Given the description of an element on the screen output the (x, y) to click on. 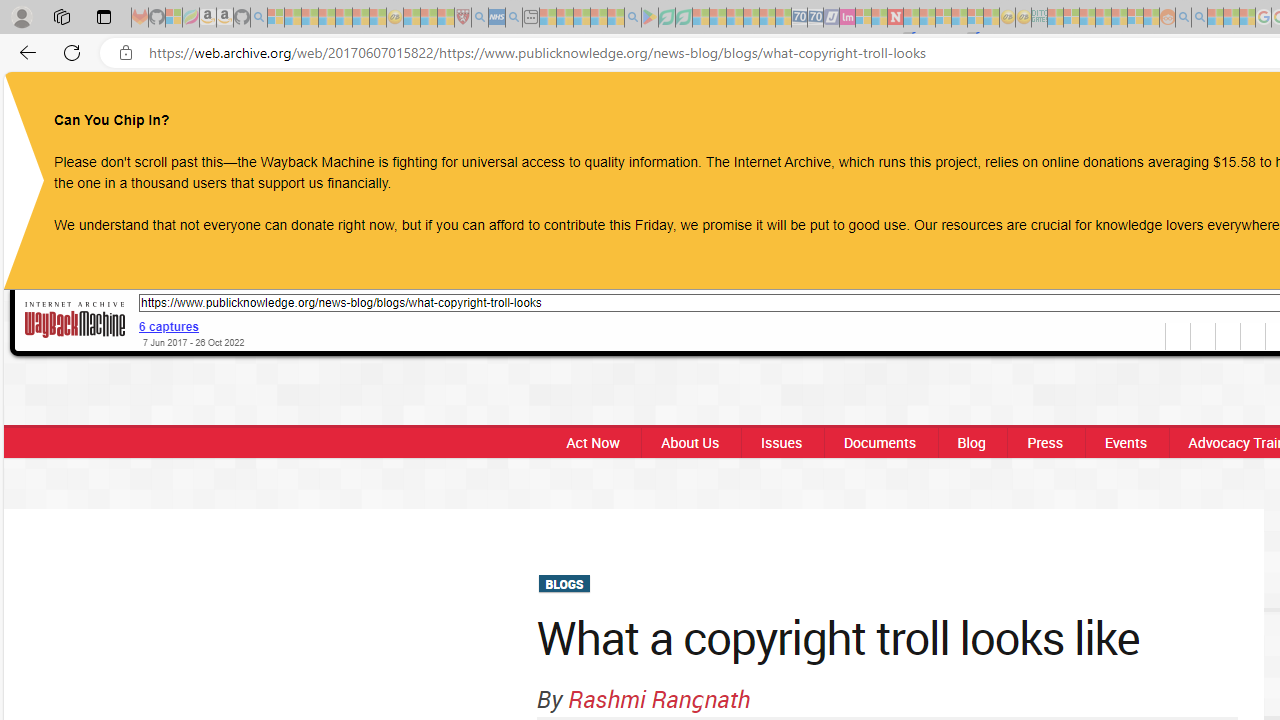
Blog (971, 442)
Documents (879, 442)
Pets - MSN - Sleeping (598, 17)
FACEBOOK (1138, 108)
Events (1125, 442)
Jobs - lastminute.com Investor Portal - Sleeping (847, 17)
FACEBOOK (1138, 108)
